Given the description of an element on the screen output the (x, y) to click on. 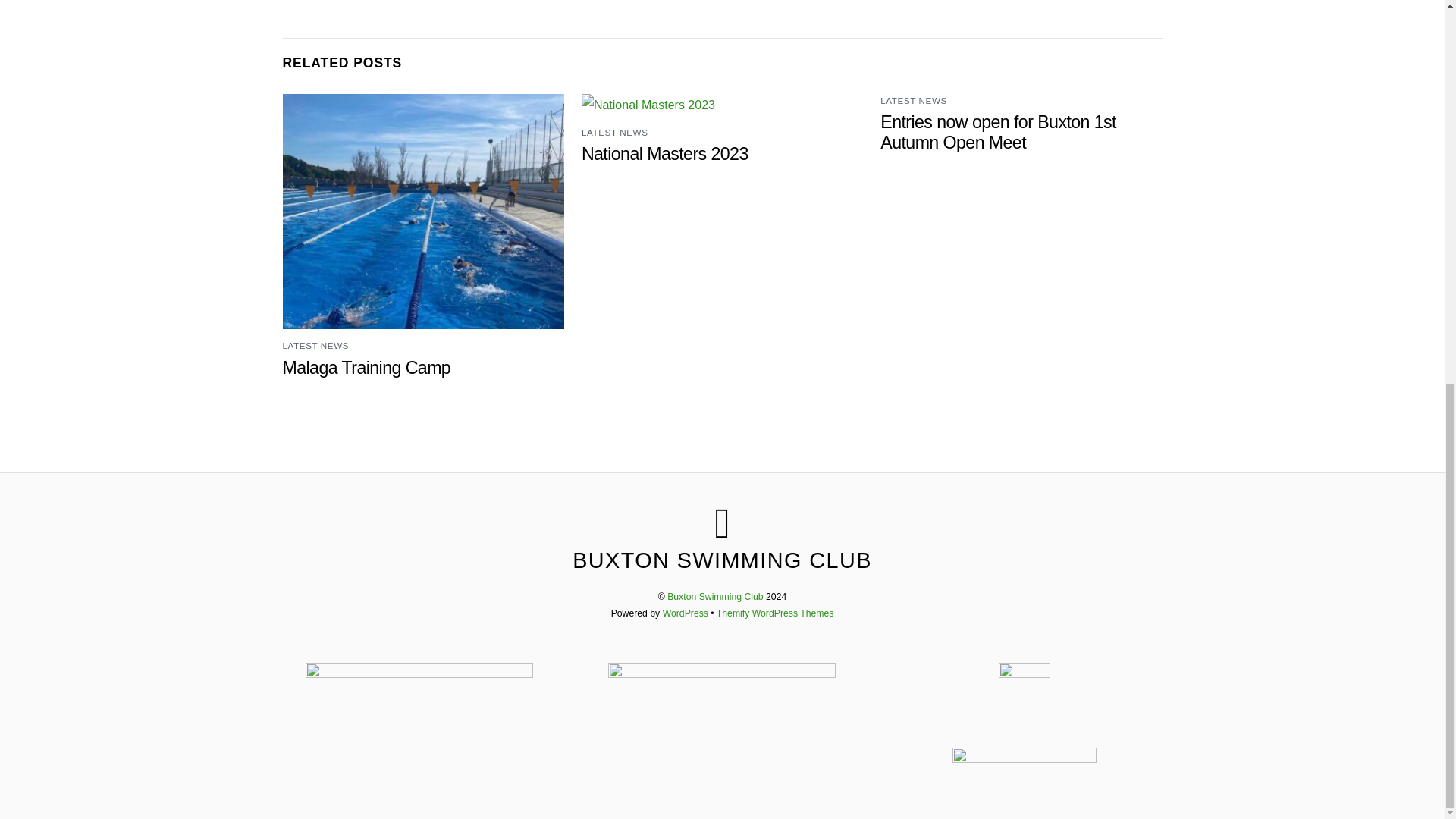
Entries now open for Buxton 1st Autumn Open Meet (998, 132)
Malaga Training Camp (365, 367)
Buxton Swimming Club (722, 559)
National Masters 2023 (664, 153)
